Given the description of an element on the screen output the (x, y) to click on. 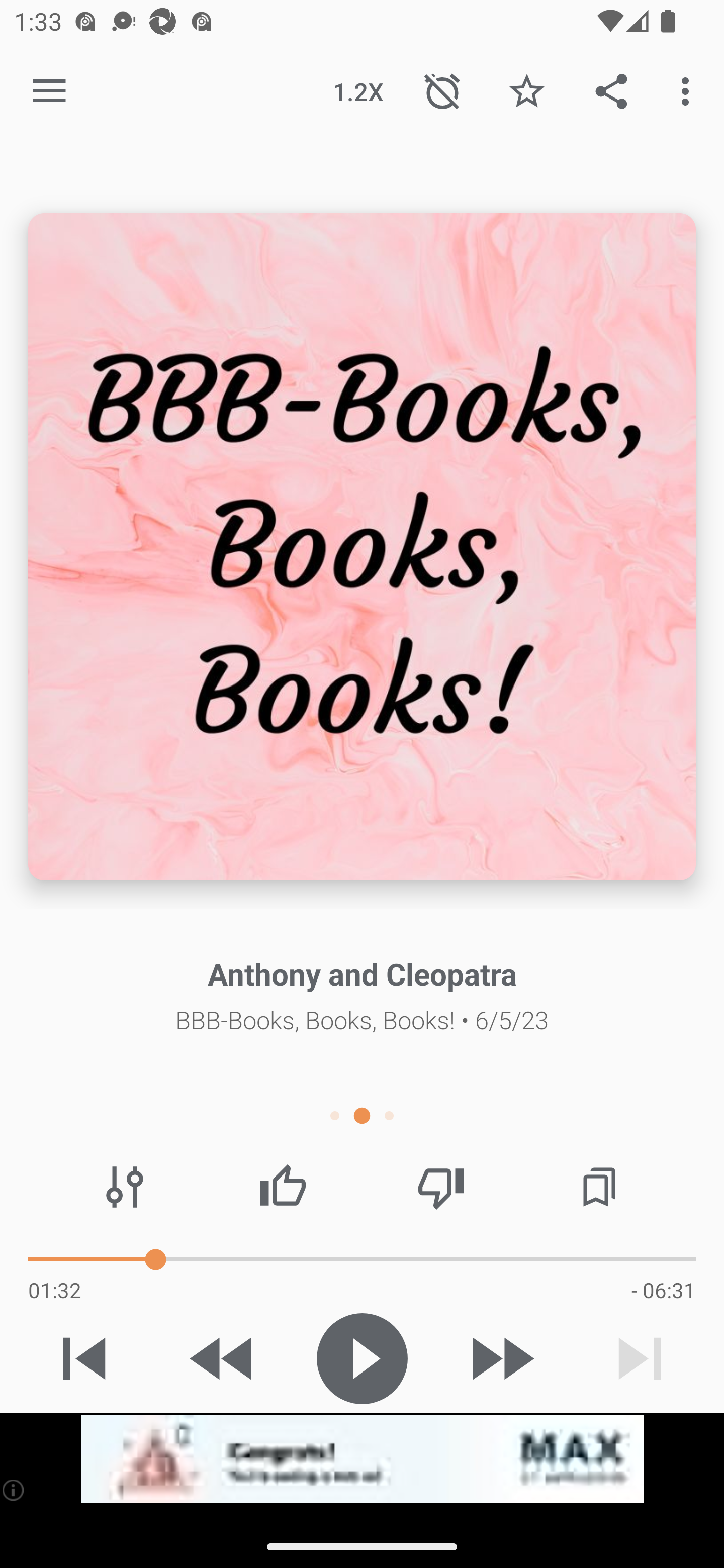
Open navigation sidebar (49, 91)
1.2X (357, 90)
Sleep Timer (442, 90)
Favorite (526, 90)
Share (611, 90)
More options (688, 90)
Episode description (361, 547)
Audio effects (124, 1186)
Thumbs up (283, 1186)
Thumbs down (440, 1186)
Chapters / Bookmarks (598, 1186)
- 06:31 (663, 1289)
Previous track (84, 1358)
Skip 15s backward (222, 1358)
Play / Pause (362, 1358)
Skip 30s forward (500, 1358)
Next track (639, 1358)
app-monetization (362, 1459)
(i) (14, 1489)
